Given the description of an element on the screen output the (x, y) to click on. 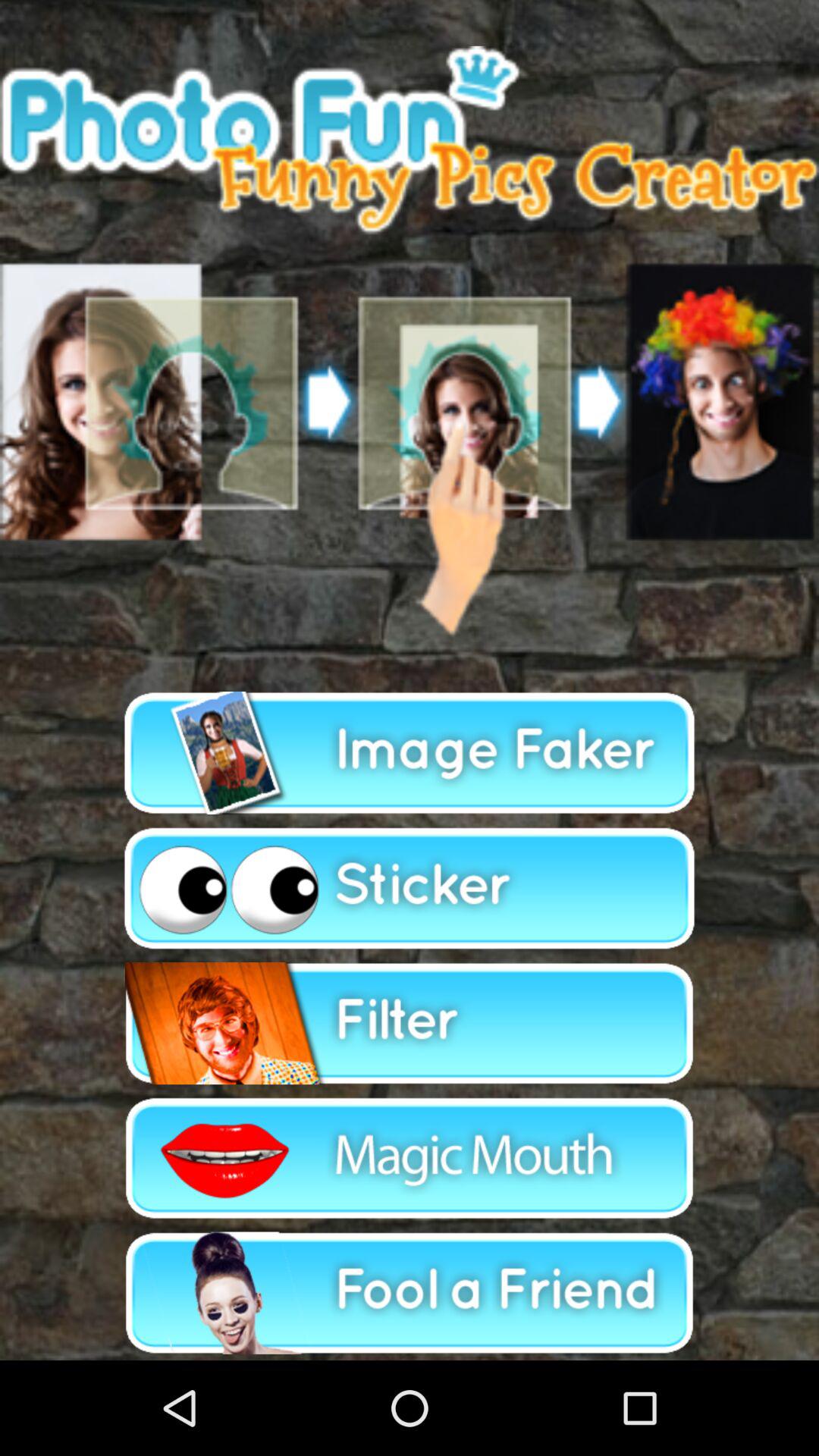
open filter (409, 1023)
